Given the description of an element on the screen output the (x, y) to click on. 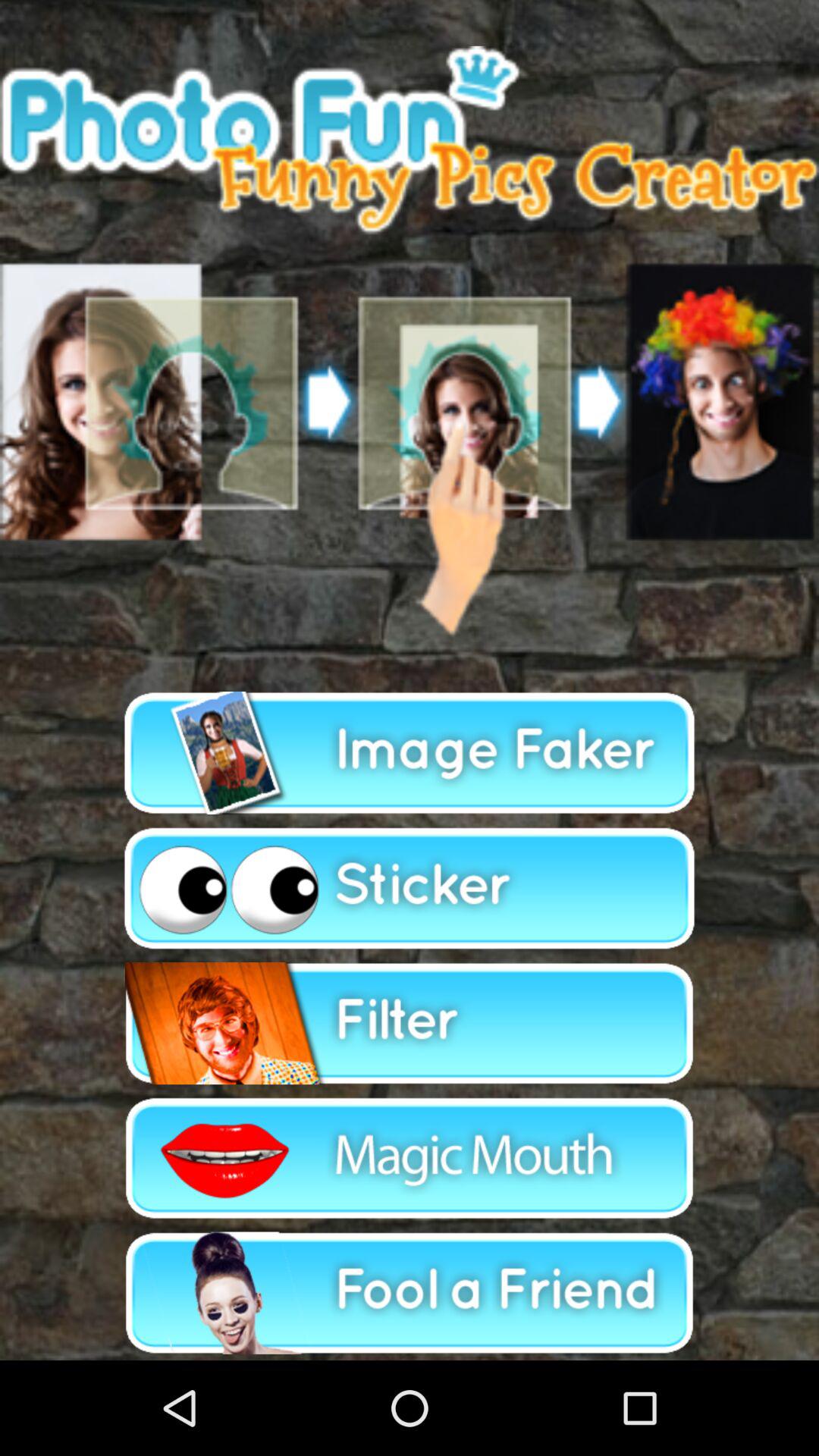
open filter (409, 1023)
